Given the description of an element on the screen output the (x, y) to click on. 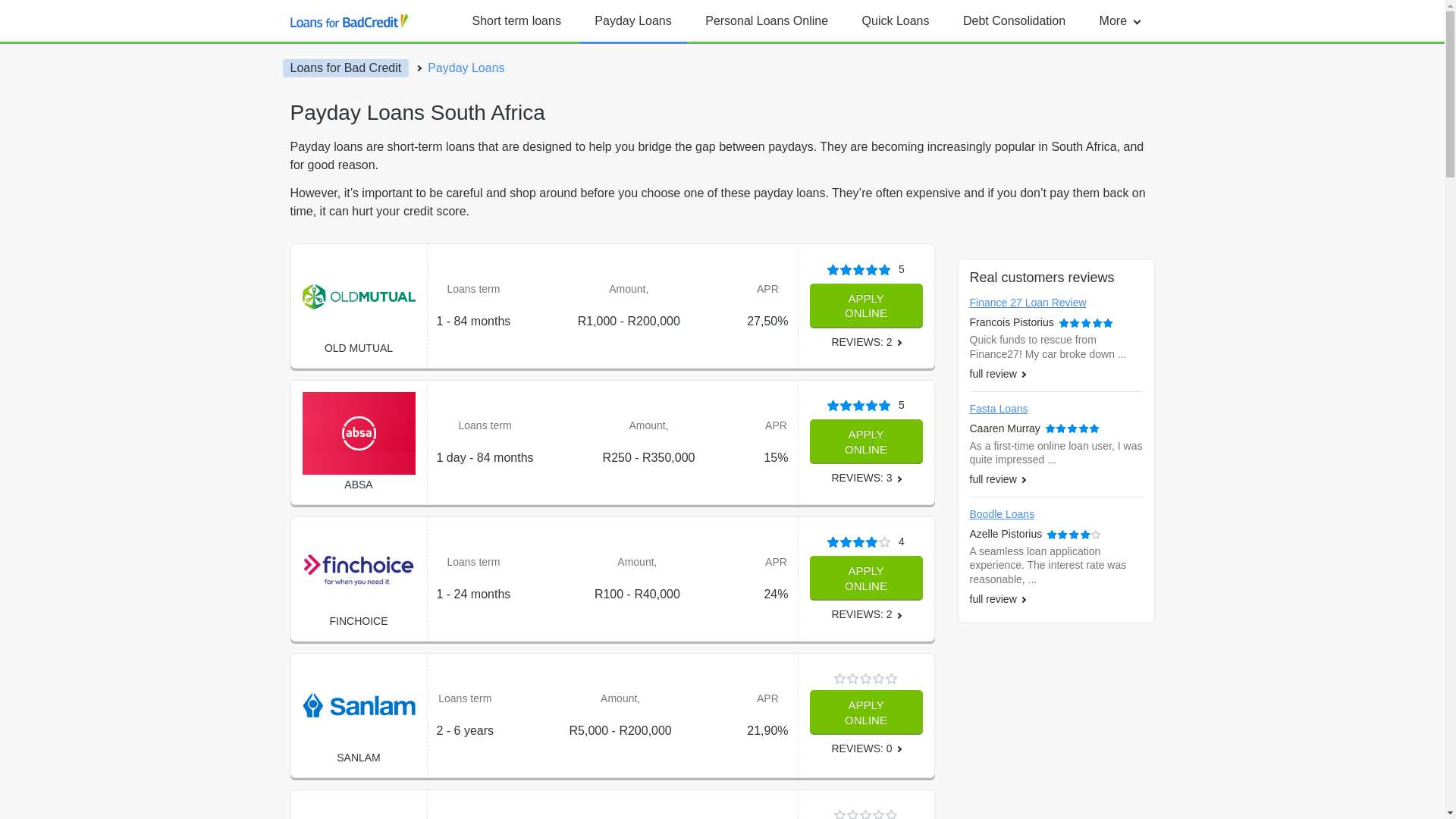
Personal Loans Online (766, 20)
Short term loans (516, 20)
REVIEWS: 0 (865, 748)
Payday Loans (632, 20)
Loans for Bad Credit (345, 67)
Quick Loans (895, 20)
Debt Consolidation (1013, 20)
More (1119, 20)
Loans for Bad Credit (349, 20)
SANLAM (358, 756)
